Given the description of an element on the screen output the (x, y) to click on. 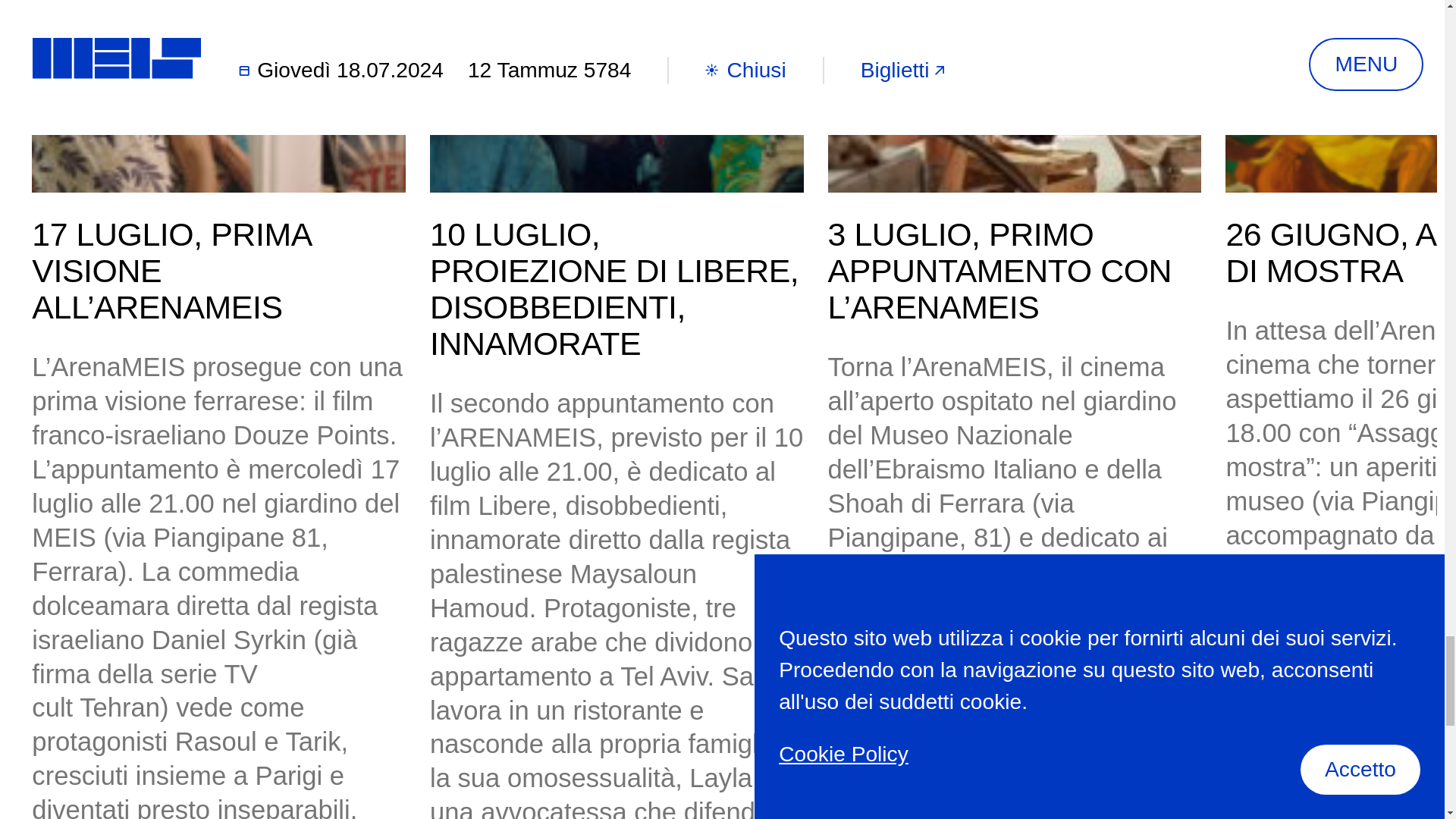
10 luglio, proiezione di Libere, disobbedienti, innamorate (616, 96)
